Given the description of an element on the screen output the (x, y) to click on. 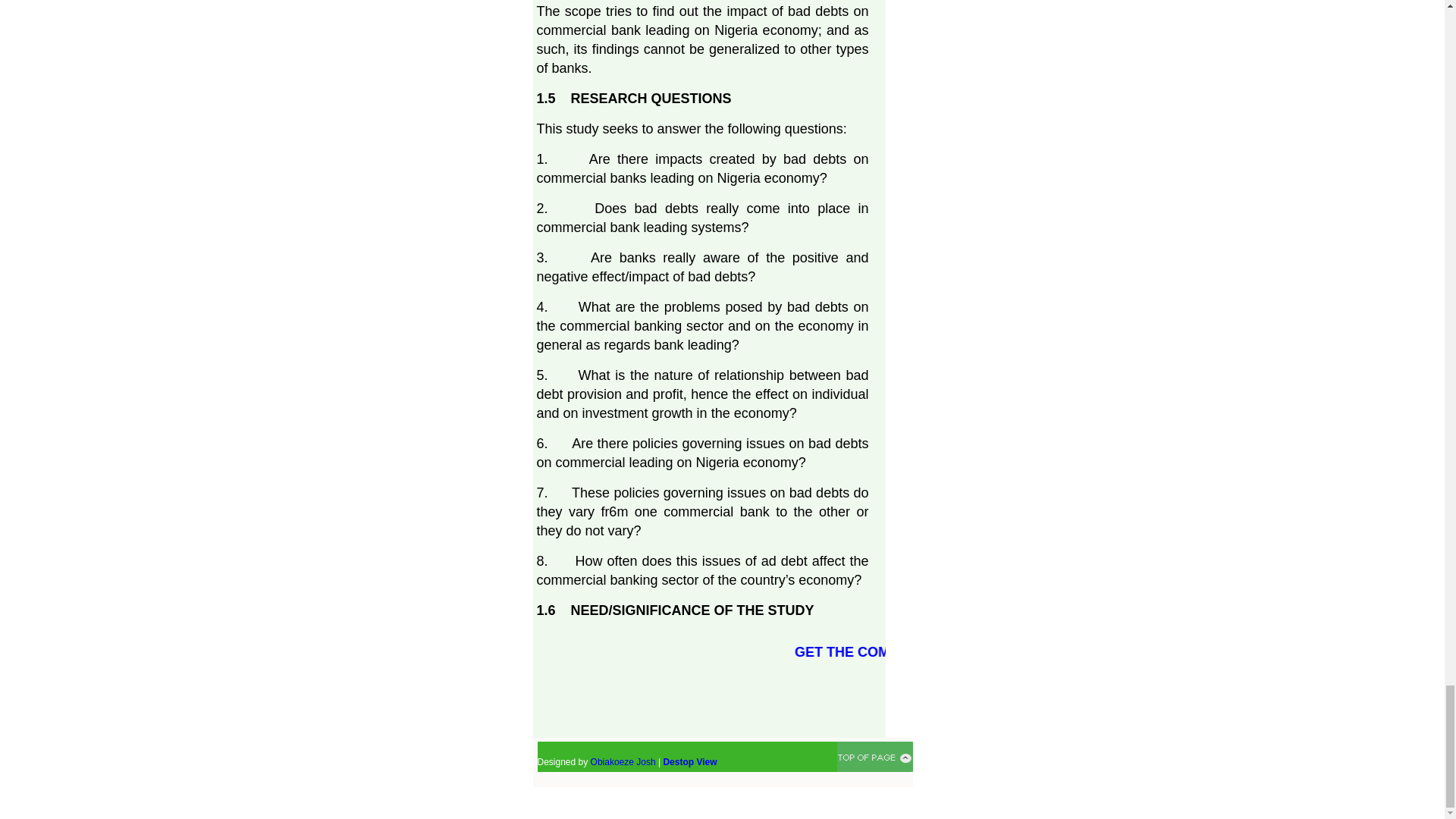
Destop View (689, 761)
GET THE COMPLETE MATERIAL (966, 652)
Obiakoeze Josh (623, 761)
